Given the description of an element on the screen output the (x, y) to click on. 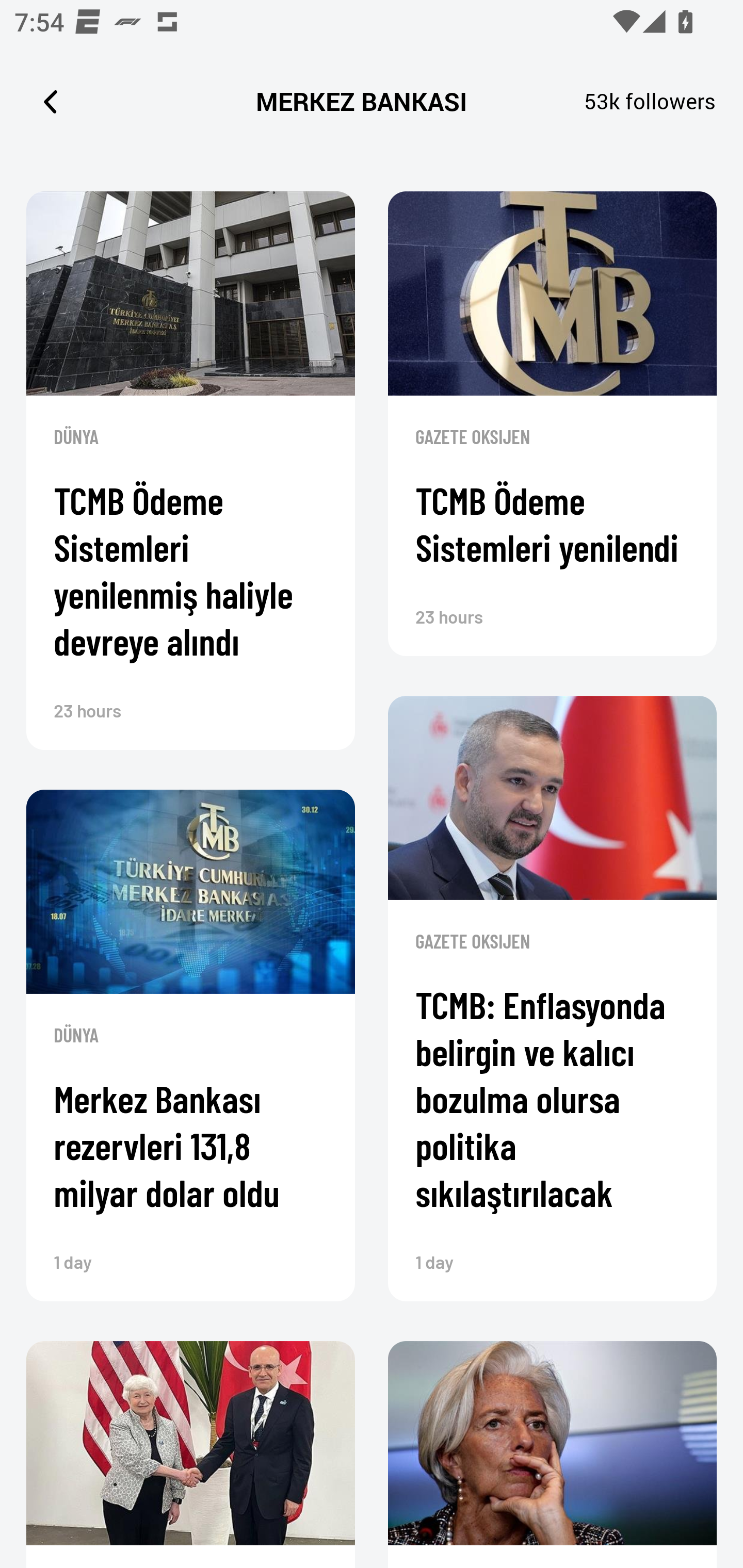
Leading Icon (50, 101)
